Given the description of an element on the screen output the (x, y) to click on. 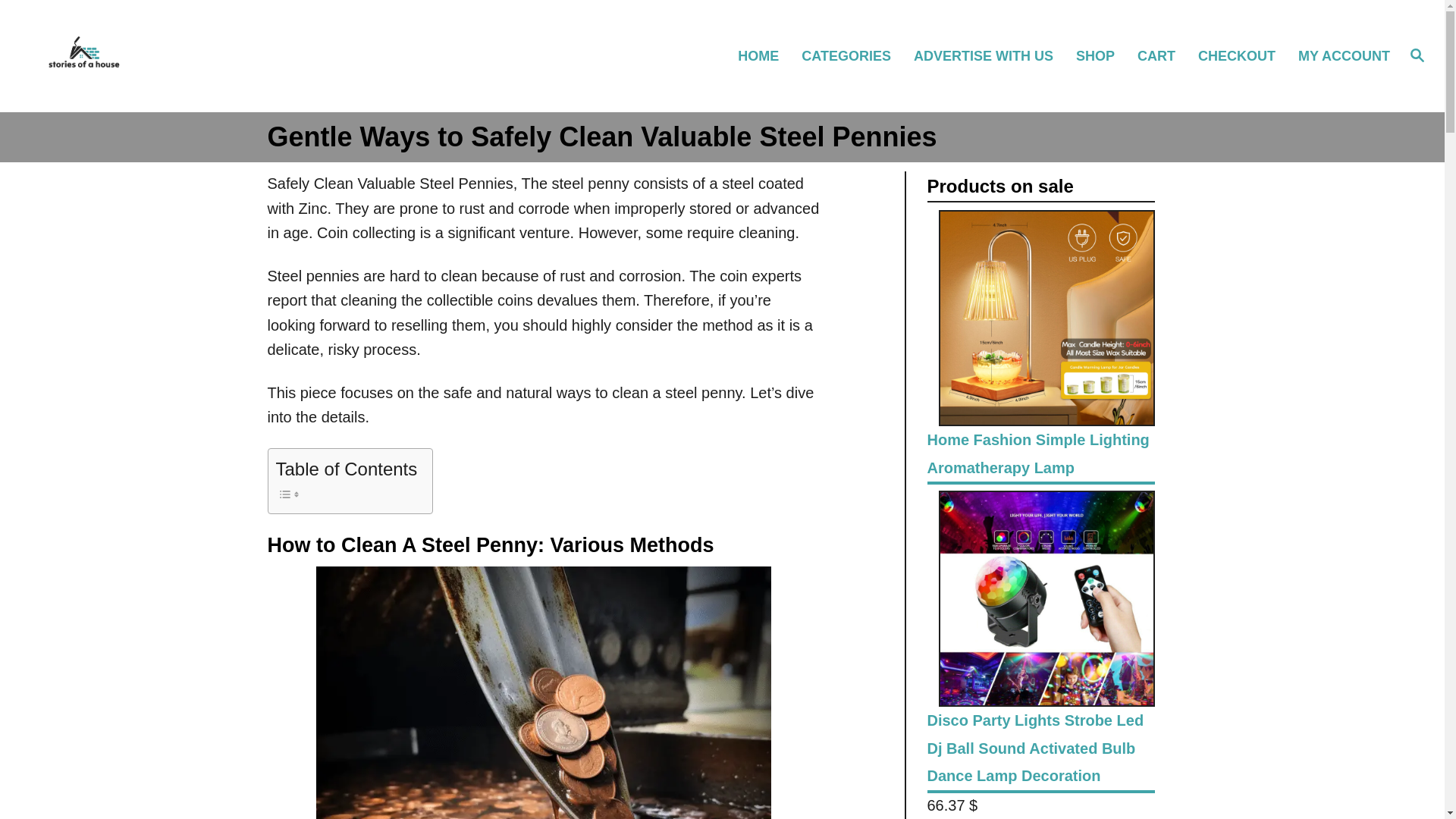
HOME (764, 55)
ADVERTISE WITH US (989, 55)
CART (1162, 55)
Magnifying Glass (1416, 54)
SHOP (1101, 55)
MY ACCOUNT (1342, 55)
CHECKOUT (1243, 55)
Stories of a House (204, 56)
CATEGORIES (852, 55)
